Given the description of an element on the screen output the (x, y) to click on. 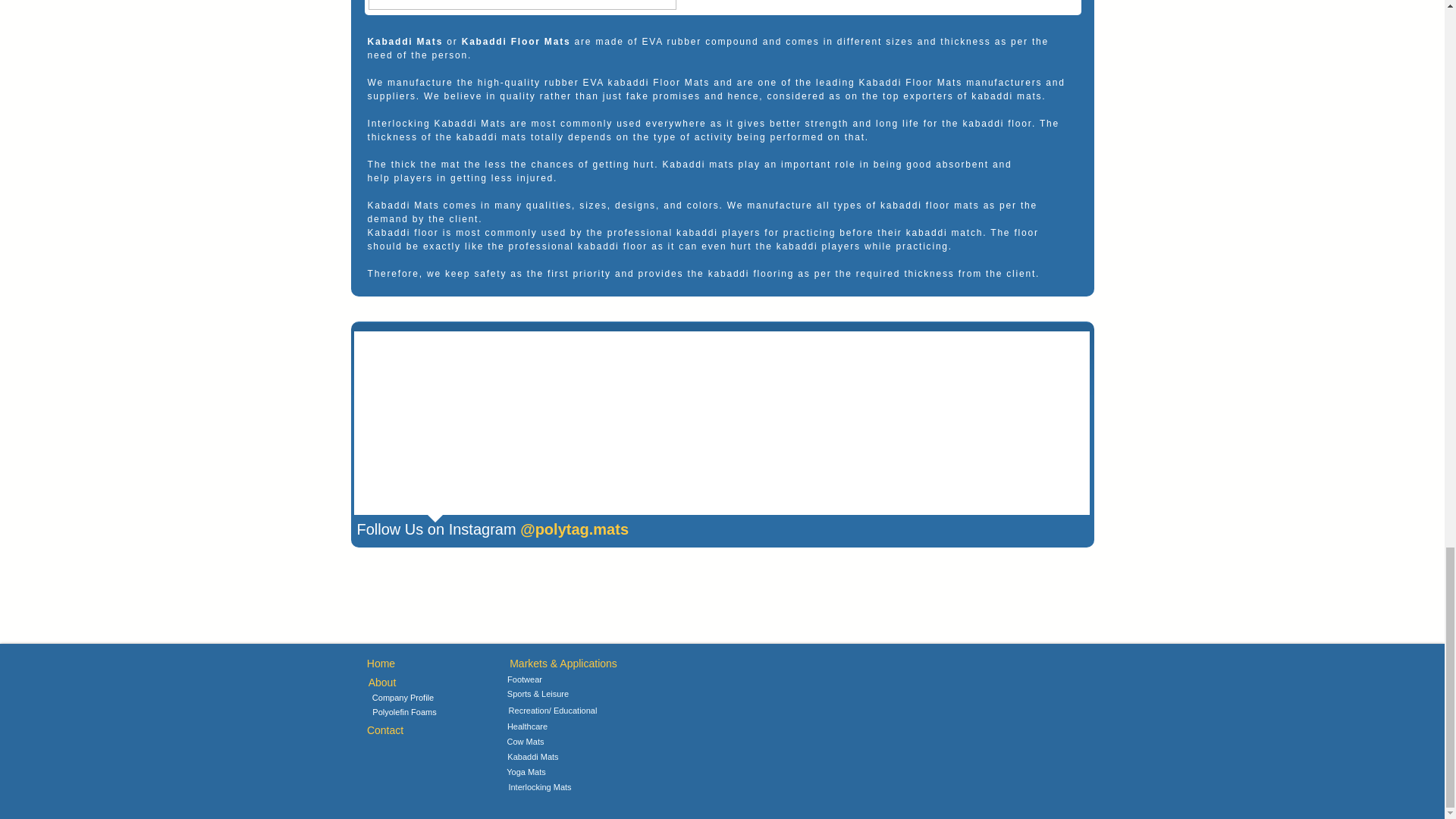
About (381, 682)
Contact (384, 730)
Company Profile (402, 698)
Home (380, 663)
Polyolefin Foams (403, 712)
Kabaddi Court.png (522, 4)
